Given the description of an element on the screen output the (x, y) to click on. 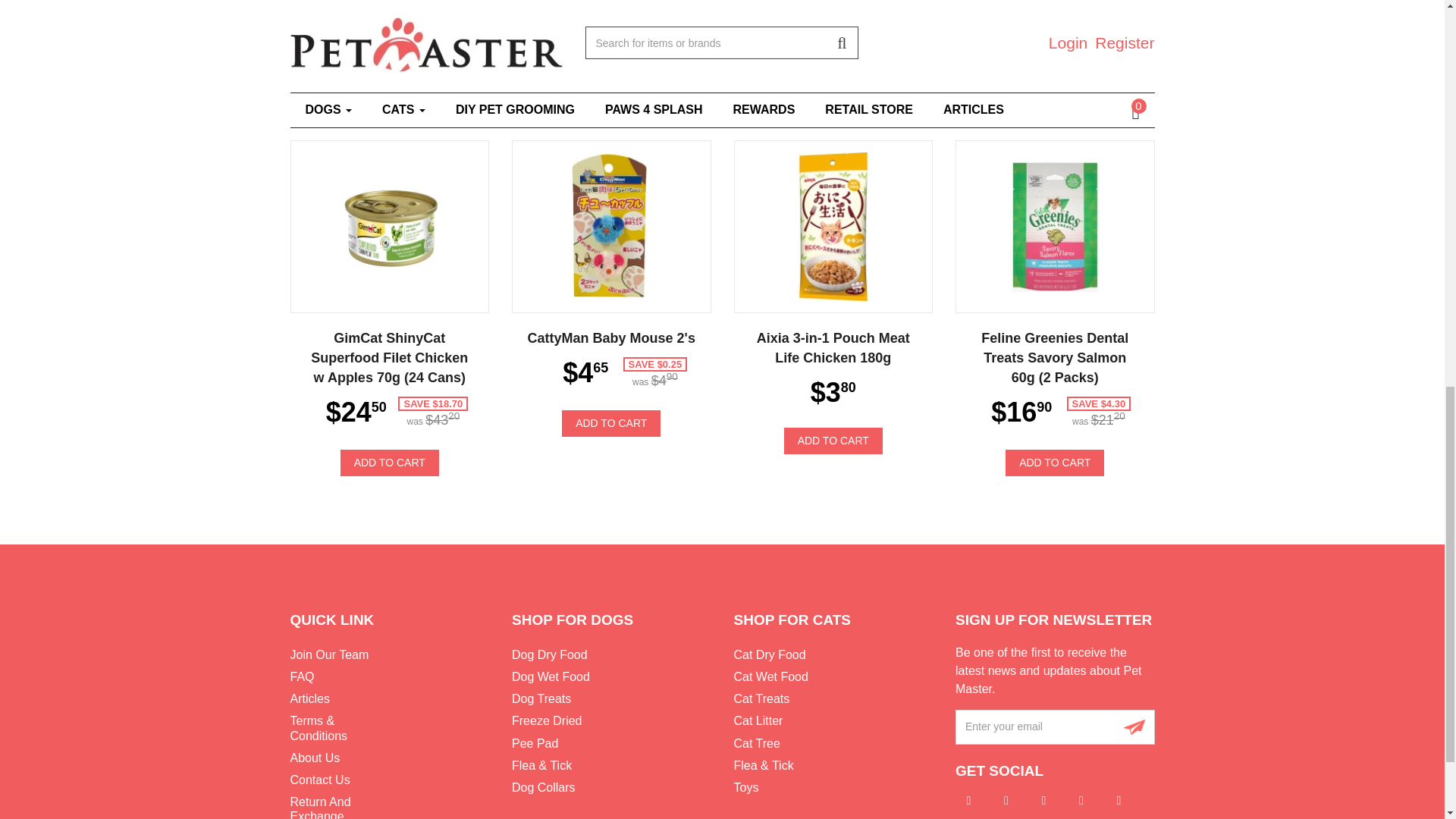
CattyMan Baby Mouse 2's (610, 226)
Aixia 3-in-1 Pouch Meat Life Chicken 180g (833, 226)
